Given the description of an element on the screen output the (x, y) to click on. 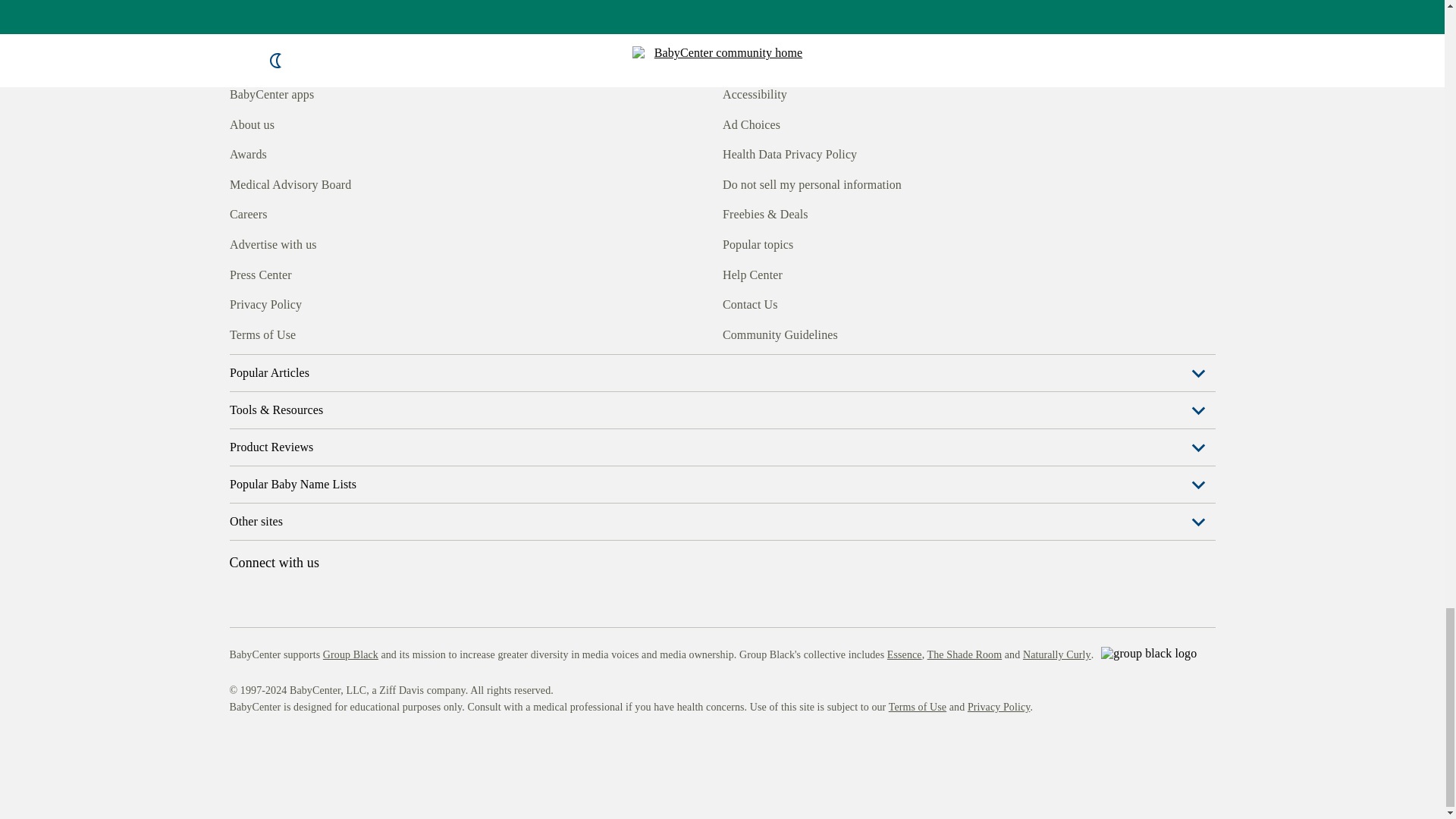
BabyCenter Instagram feed (274, 332)
BabyCenter Pinterest board (309, 332)
BabyCenter YouTube channel (344, 332)
BabyCenter Twitter feed (379, 332)
BabyCenter Facebook page (239, 332)
